Given the description of an element on the screen output the (x, y) to click on. 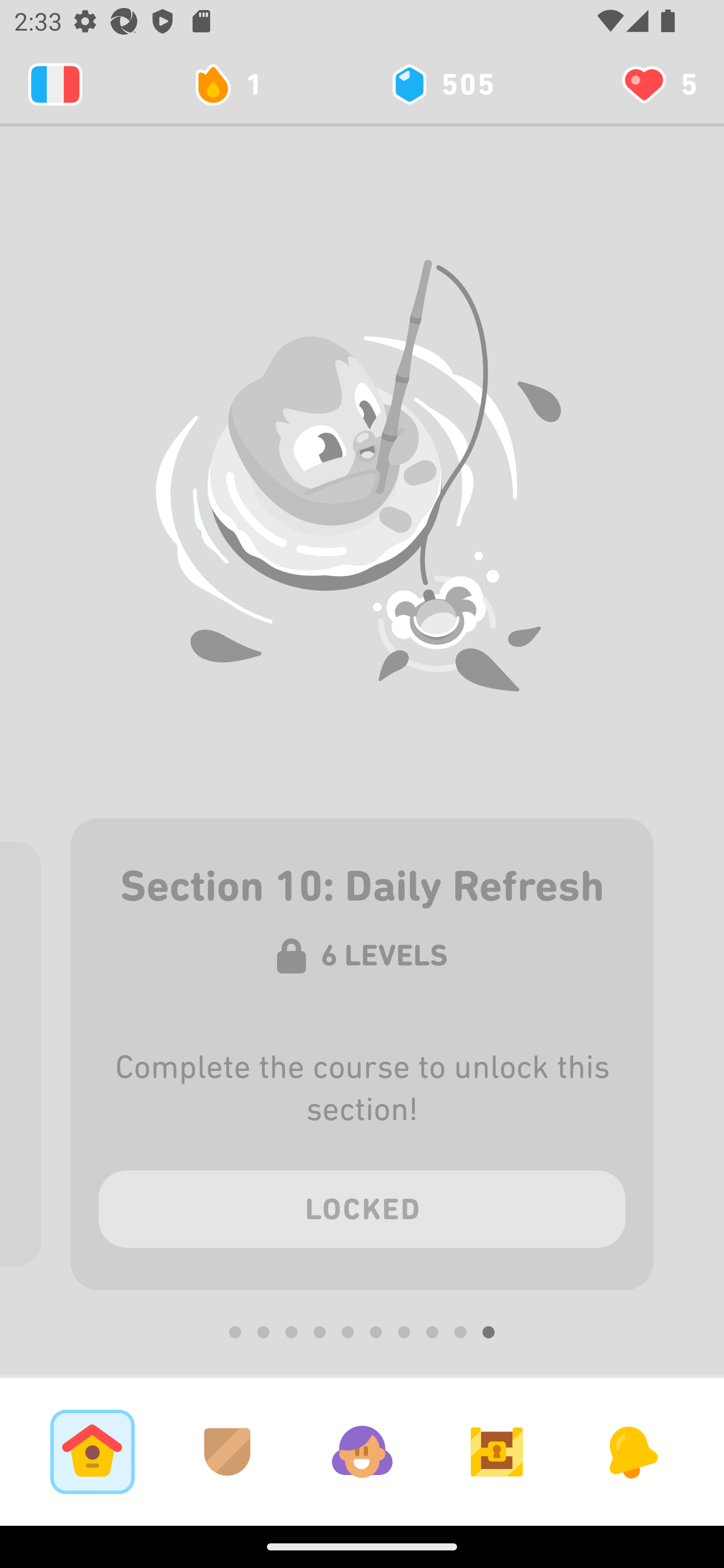
Learning 2131888976 (55, 84)
1 day streak 1 (236, 84)
505 (441, 84)
You have 5 hearts left 5 (657, 84)
LOCKED (361, 1205)
Learn Tab (91, 1451)
Leagues Tab (227, 1451)
Profile Tab (361, 1451)
Goals Tab (496, 1451)
News Tab (631, 1451)
